Given the description of an element on the screen output the (x, y) to click on. 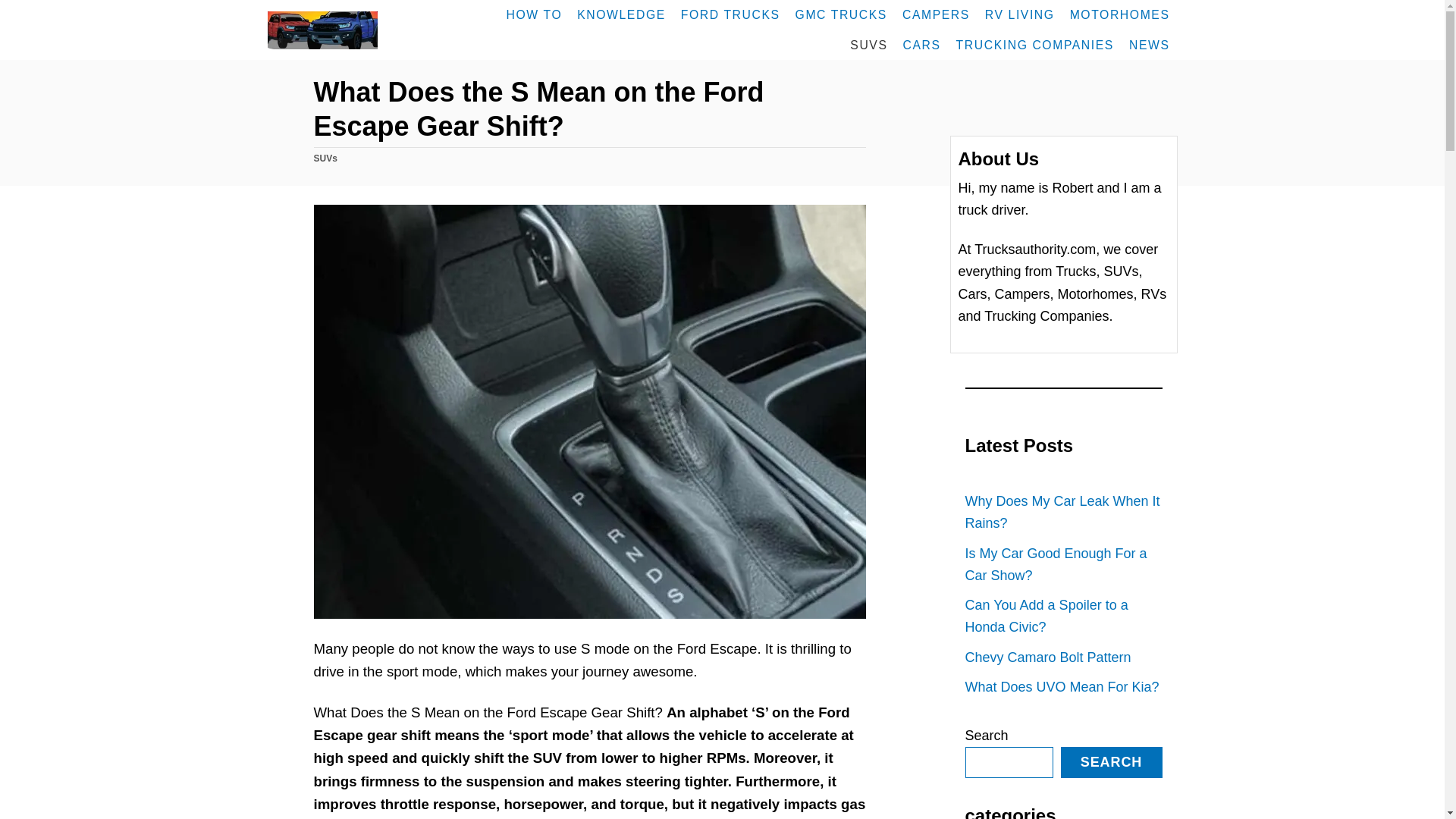
SEARCH (1111, 762)
MOTORHOMES (1119, 15)
CAMPERS (935, 15)
CARS (922, 45)
NEWS (1149, 45)
Why Does My Car Leak When It Rains? (1062, 512)
Chevy Camaro Bolt Pattern (1062, 657)
HOW TO (534, 15)
FORD TRUCKS (729, 15)
Is My Car Good Enough For a Car Show? (1062, 564)
